Given the description of an element on the screen output the (x, y) to click on. 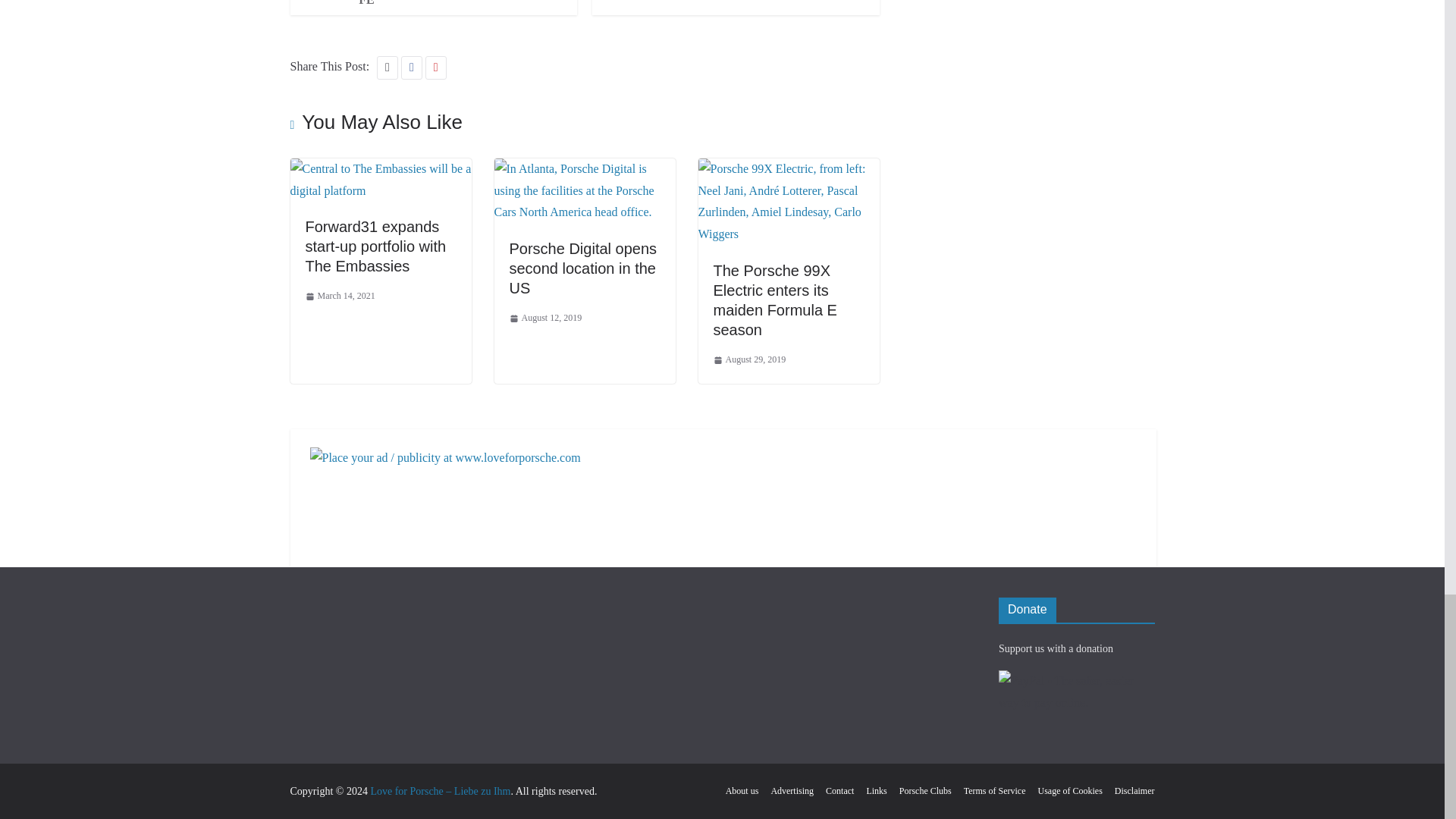
Forward31 expands start-up portfolio with The Embassies (374, 246)
Forward31 expands start-up portfolio with The Embassies (379, 168)
10:57 am (339, 296)
Porsche Digital opens second location in the US (585, 168)
